Given the description of an element on the screen output the (x, y) to click on. 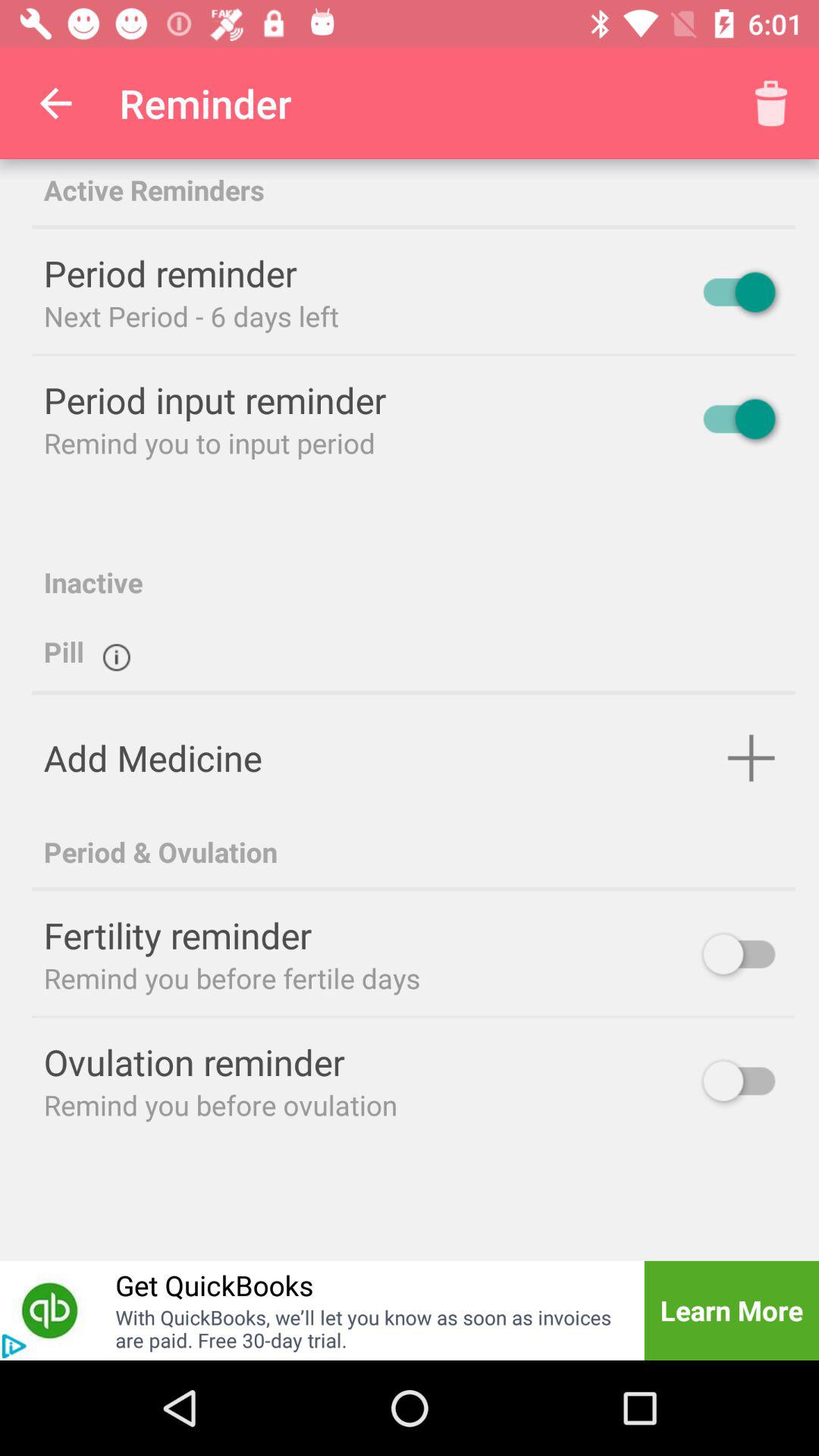
advertisement info button (14, 1346)
